Given the description of an element on the screen output the (x, y) to click on. 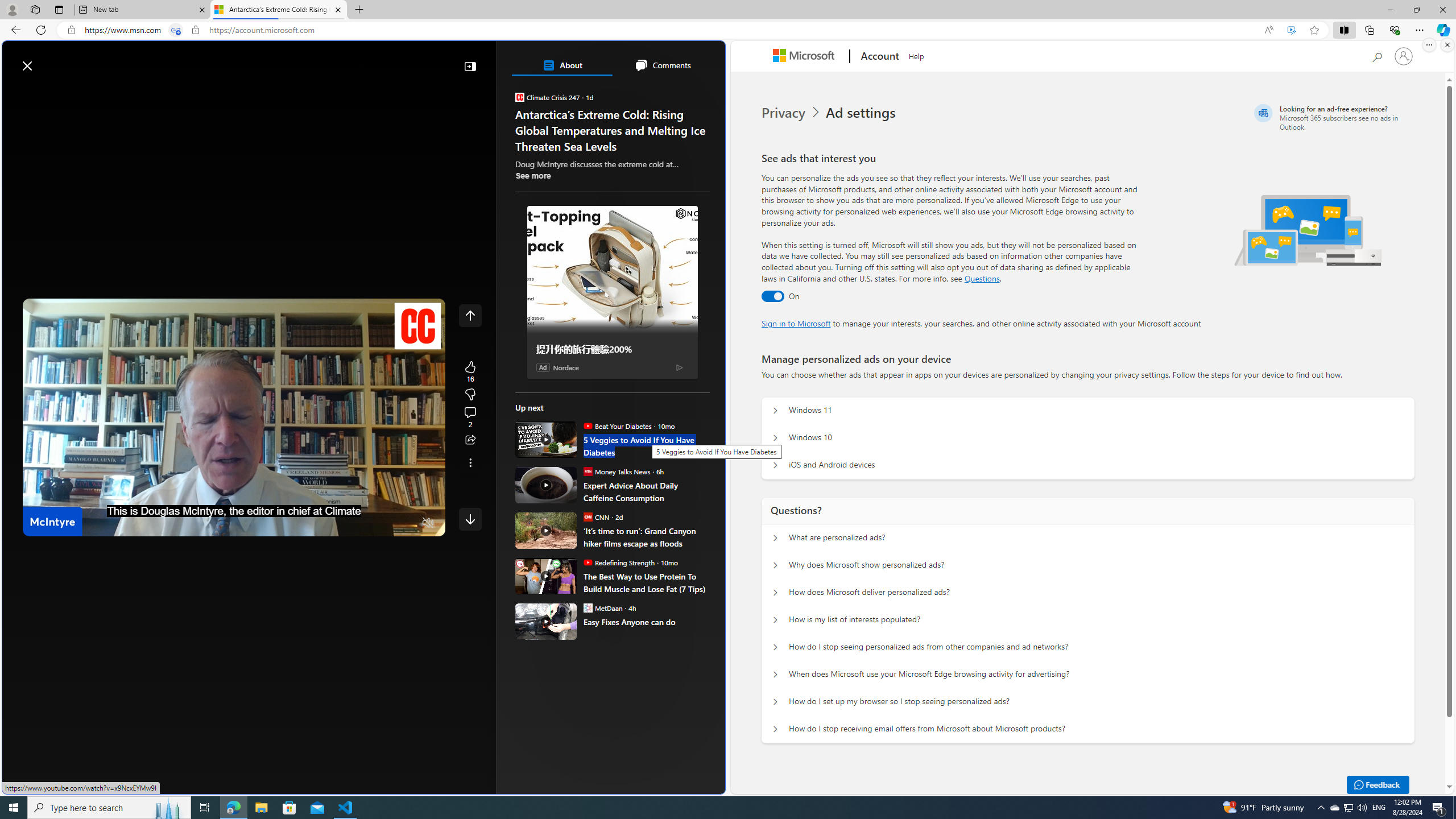
Open settings (699, 60)
Skip to footer (46, 59)
Beat Your Diabetes Beat Your Diabetes (617, 425)
16 Like (469, 371)
MetDaan (587, 607)
Captions (383, 523)
Questions? How is my list of interests populated? (775, 619)
Pause (39, 523)
